Given the description of an element on the screen output the (x, y) to click on. 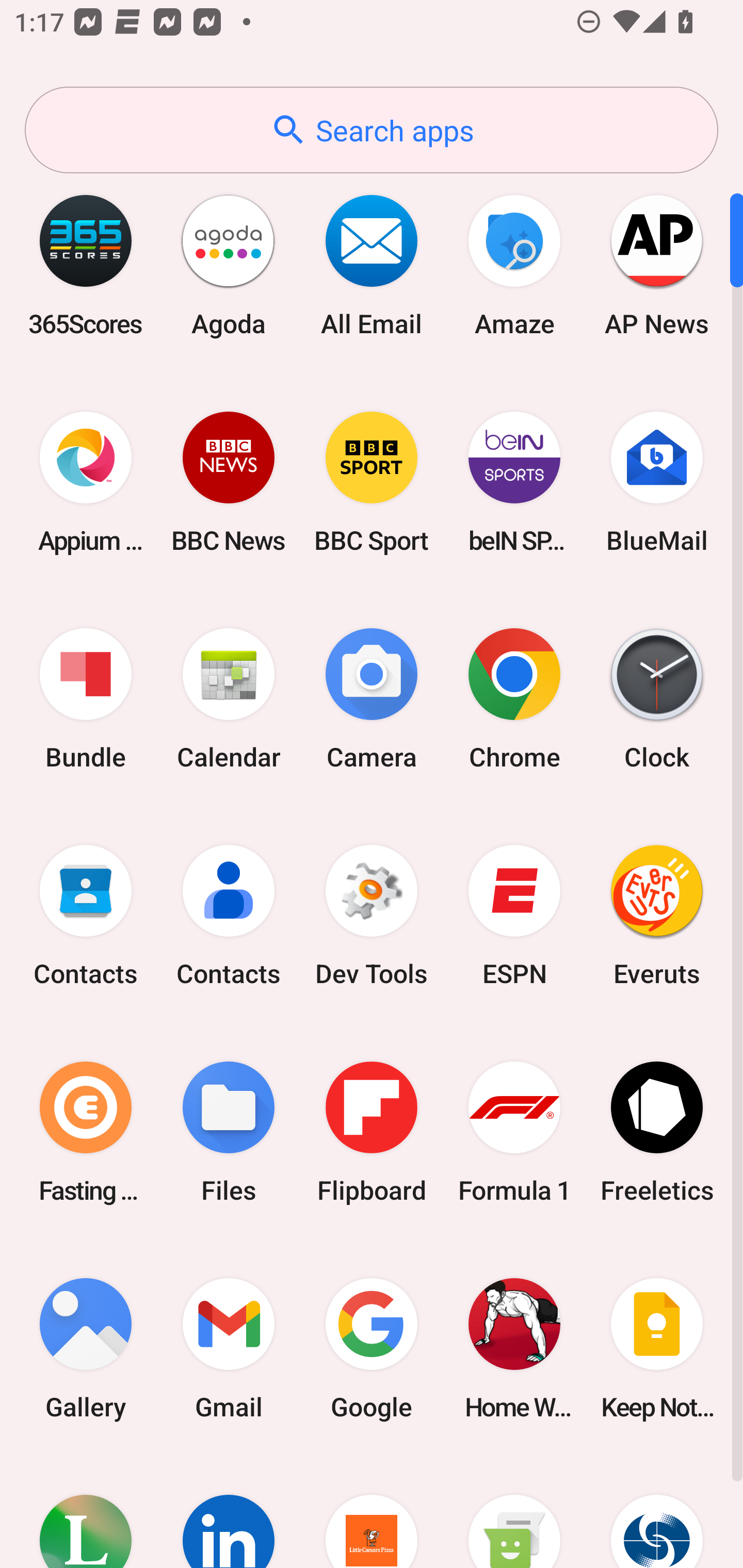
  Search apps (371, 130)
365Scores (85, 264)
Agoda (228, 264)
All Email (371, 264)
Amaze (514, 264)
AP News (656, 264)
Appium Settings (85, 482)
BBC News (228, 482)
BBC Sport (371, 482)
beIN SPORTS (514, 482)
BlueMail (656, 482)
Bundle (85, 699)
Calendar (228, 699)
Camera (371, 699)
Chrome (514, 699)
Clock (656, 699)
Contacts (85, 915)
Contacts (228, 915)
Dev Tools (371, 915)
ESPN (514, 915)
Everuts (656, 915)
Fasting Coach (85, 1131)
Files (228, 1131)
Flipboard (371, 1131)
Formula 1 (514, 1131)
Freeletics (656, 1131)
Gallery (85, 1348)
Gmail (228, 1348)
Google (371, 1348)
Home Workout (514, 1348)
Keep Notes (656, 1348)
